Given the description of an element on the screen output the (x, y) to click on. 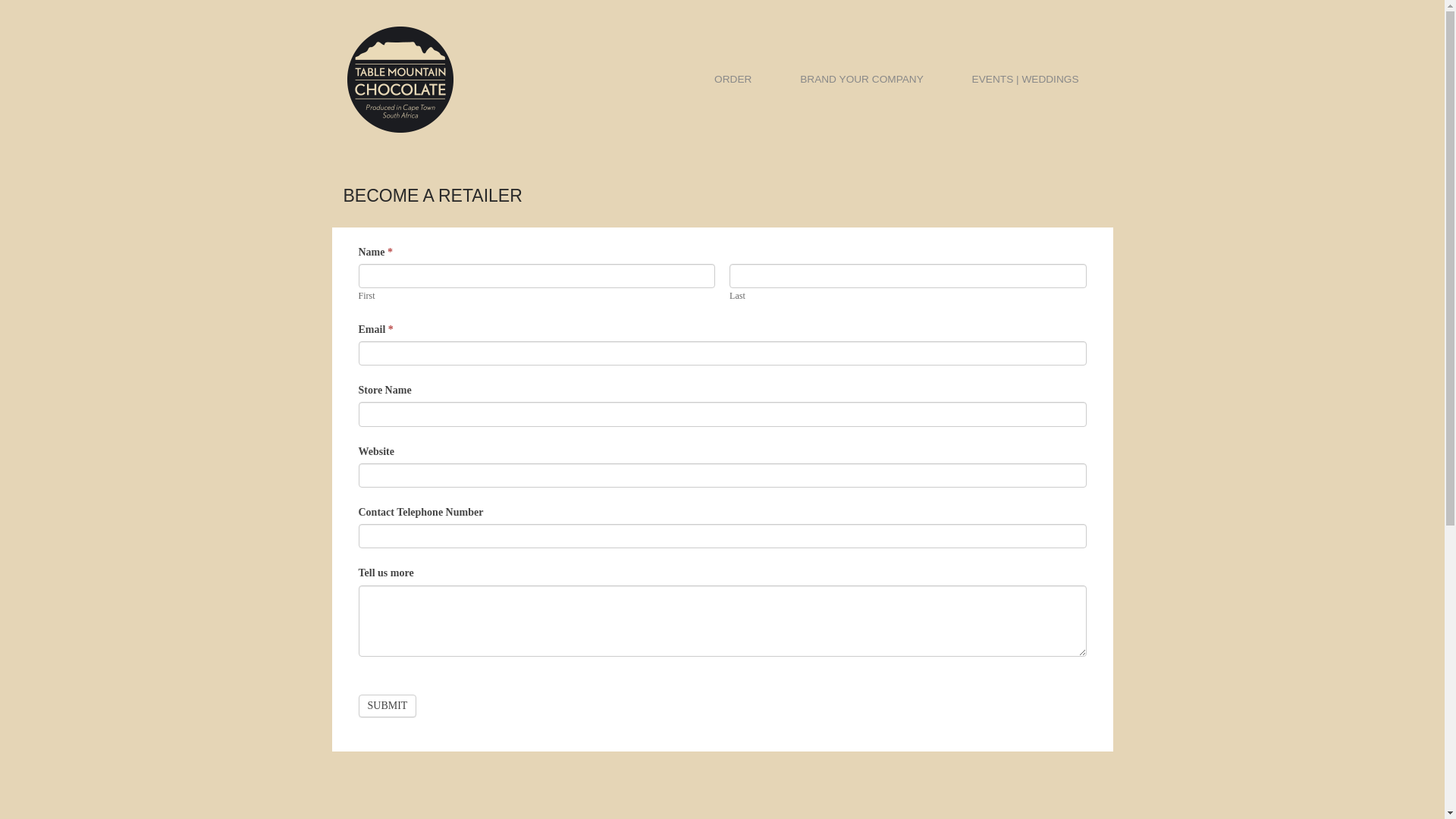
Submit (387, 705)
Home (399, 78)
ORDER (732, 79)
Submit (387, 705)
BRAND YOUR COMPANY (861, 79)
